Given the description of an element on the screen output the (x, y) to click on. 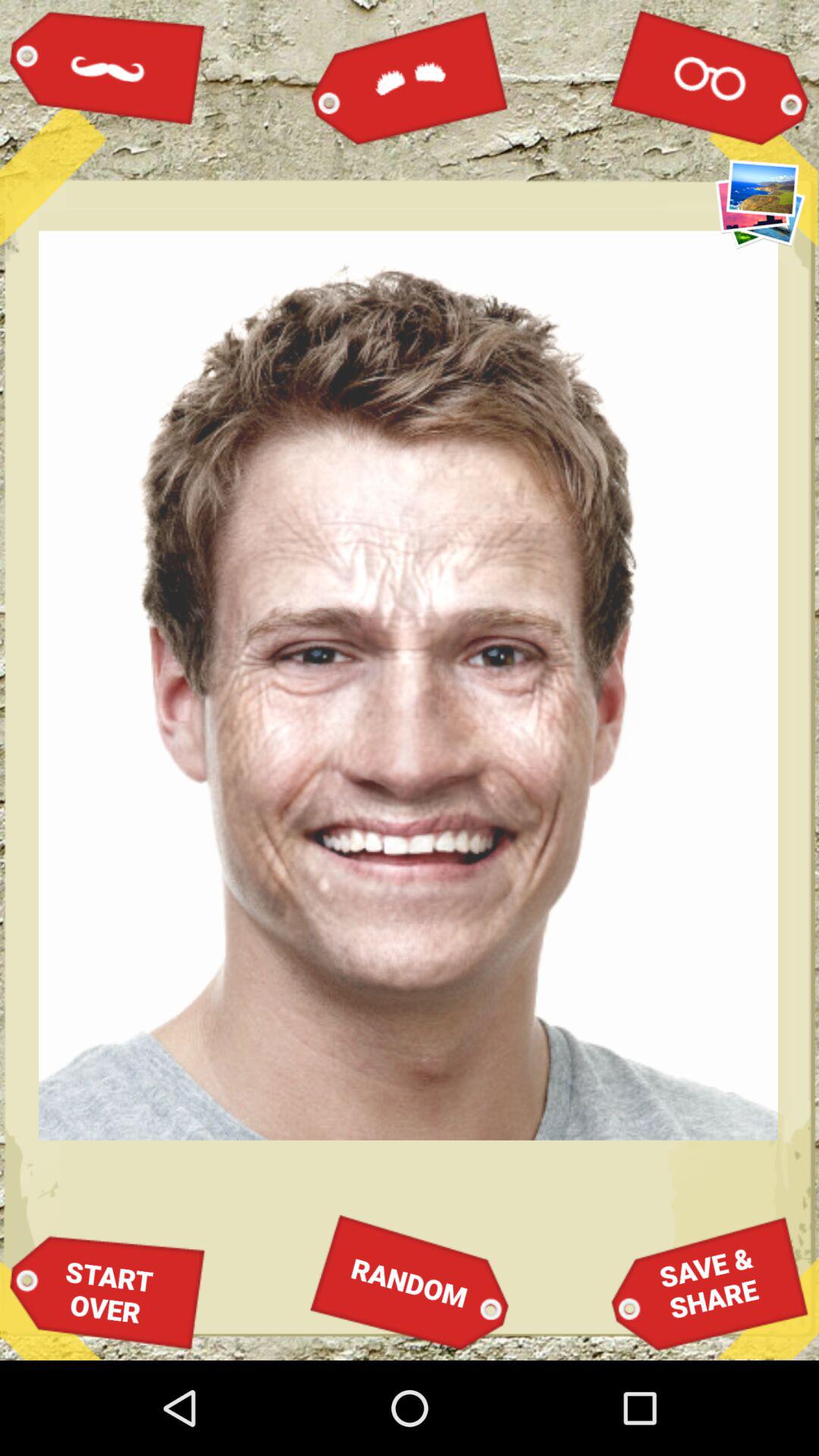
press item next to save &
share item (409, 1282)
